Given the description of an element on the screen output the (x, y) to click on. 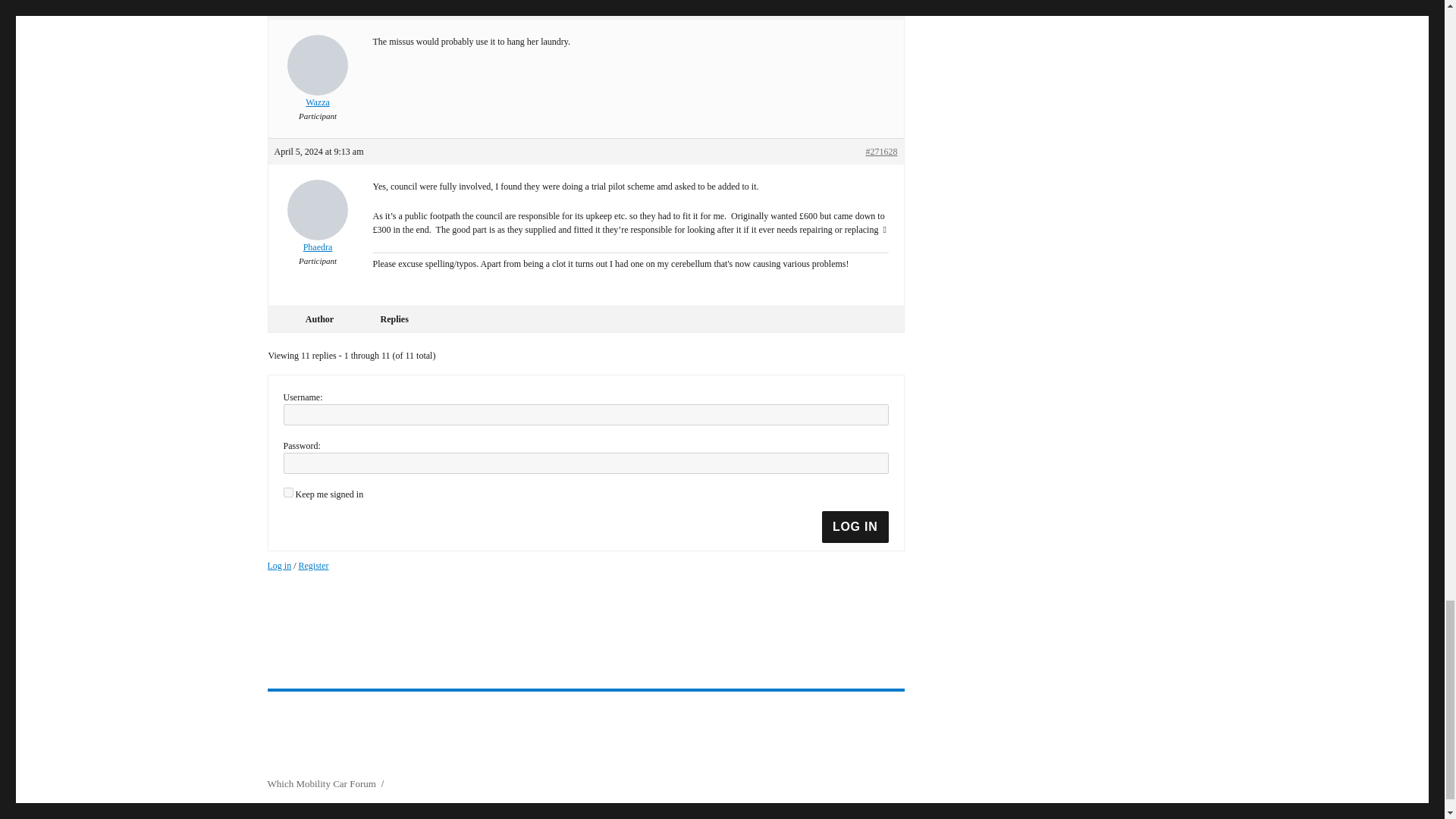
Wazza (318, 71)
Register (313, 565)
Log in (278, 565)
Phaedra (318, 216)
LOG IN (855, 526)
forever (288, 492)
